Given the description of an element on the screen output the (x, y) to click on. 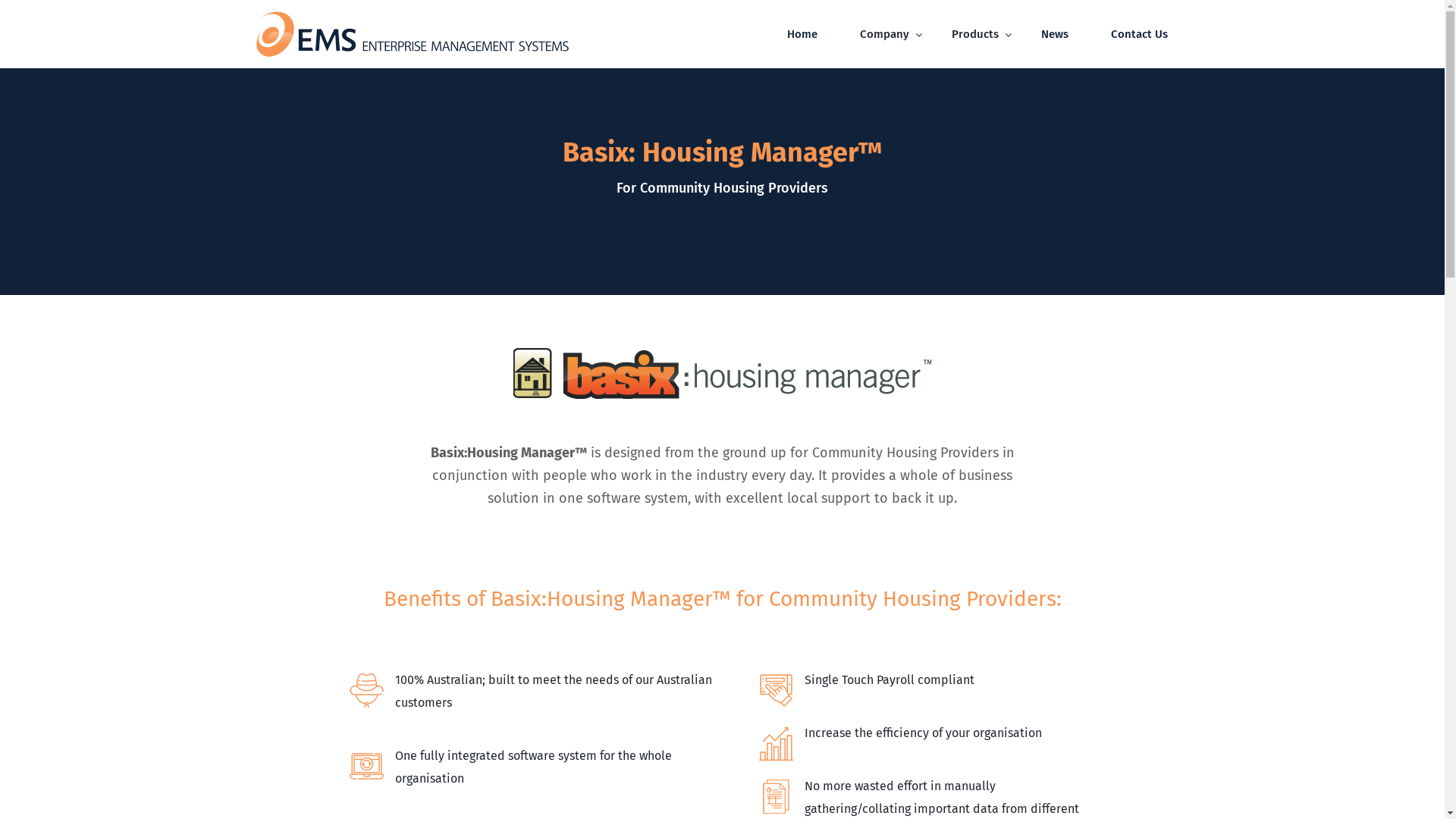
News Element type: text (1053, 33)
Contact Us Element type: text (1138, 33)
Home Element type: text (801, 33)
Products Element type: text (974, 33)
Company Element type: text (884, 33)
